Given the description of an element on the screen output the (x, y) to click on. 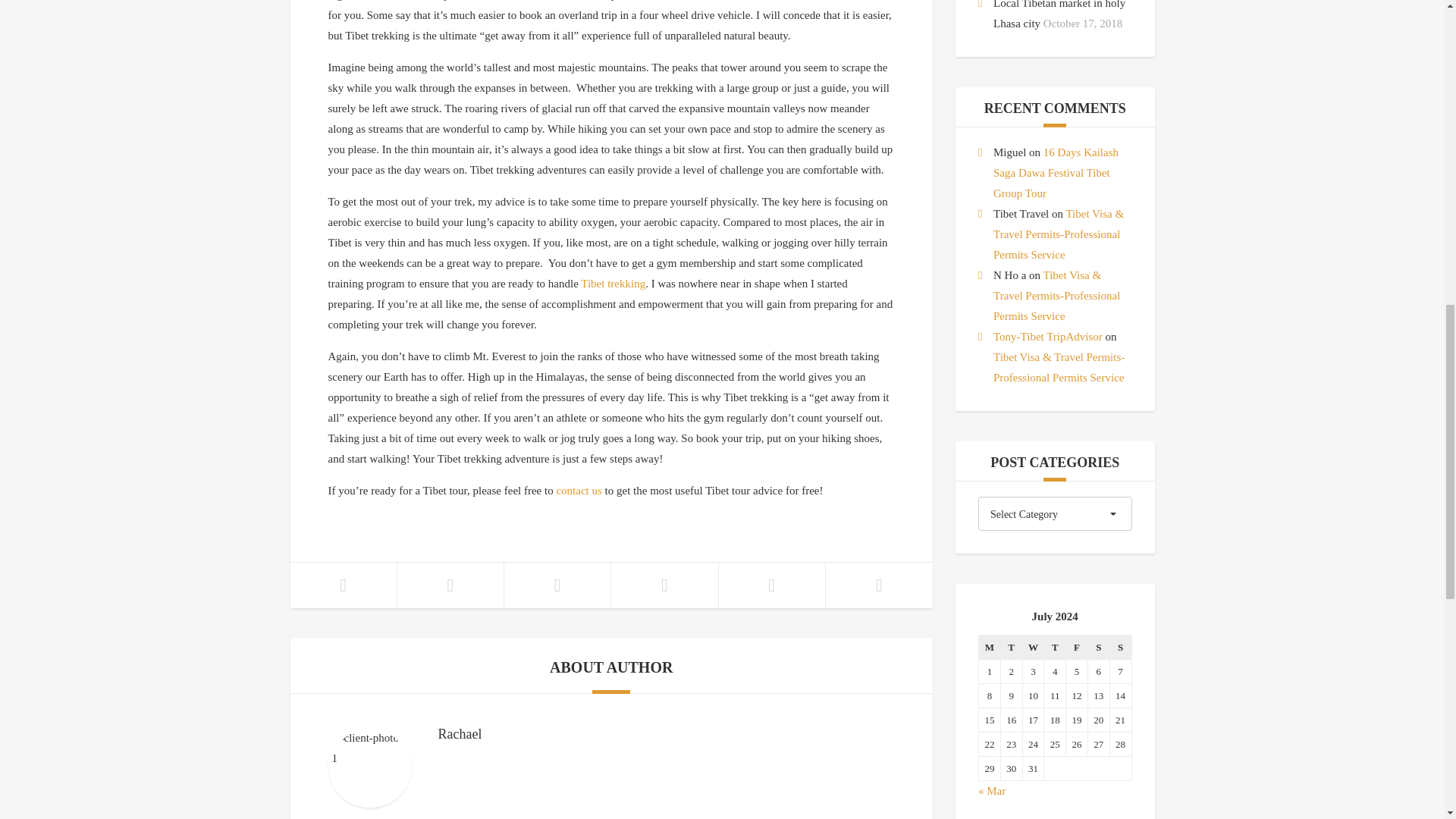
Friday (1076, 647)
Saturday (1098, 647)
Monday (989, 647)
Thursday (1054, 647)
Select Category (1055, 513)
Wednesday (1032, 647)
Tuesday (1011, 647)
Sunday (1120, 647)
